Given the description of an element on the screen output the (x, y) to click on. 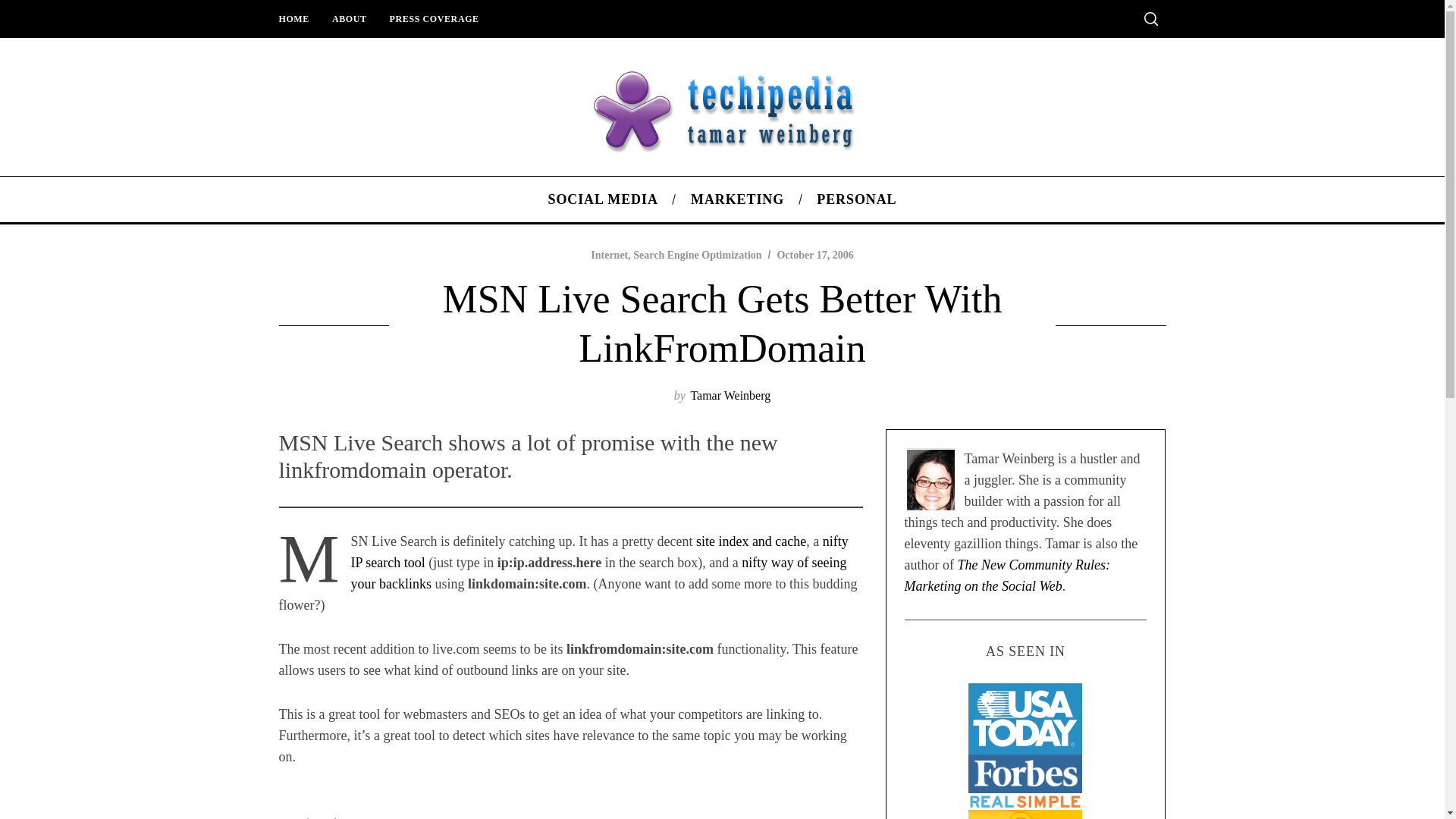
PRESS COVERAGE (434, 18)
ABOUT (349, 18)
nifty way of seeing your backlinks (598, 573)
nifty IP search tool (599, 551)
HOME (293, 18)
